Given the description of an element on the screen output the (x, y) to click on. 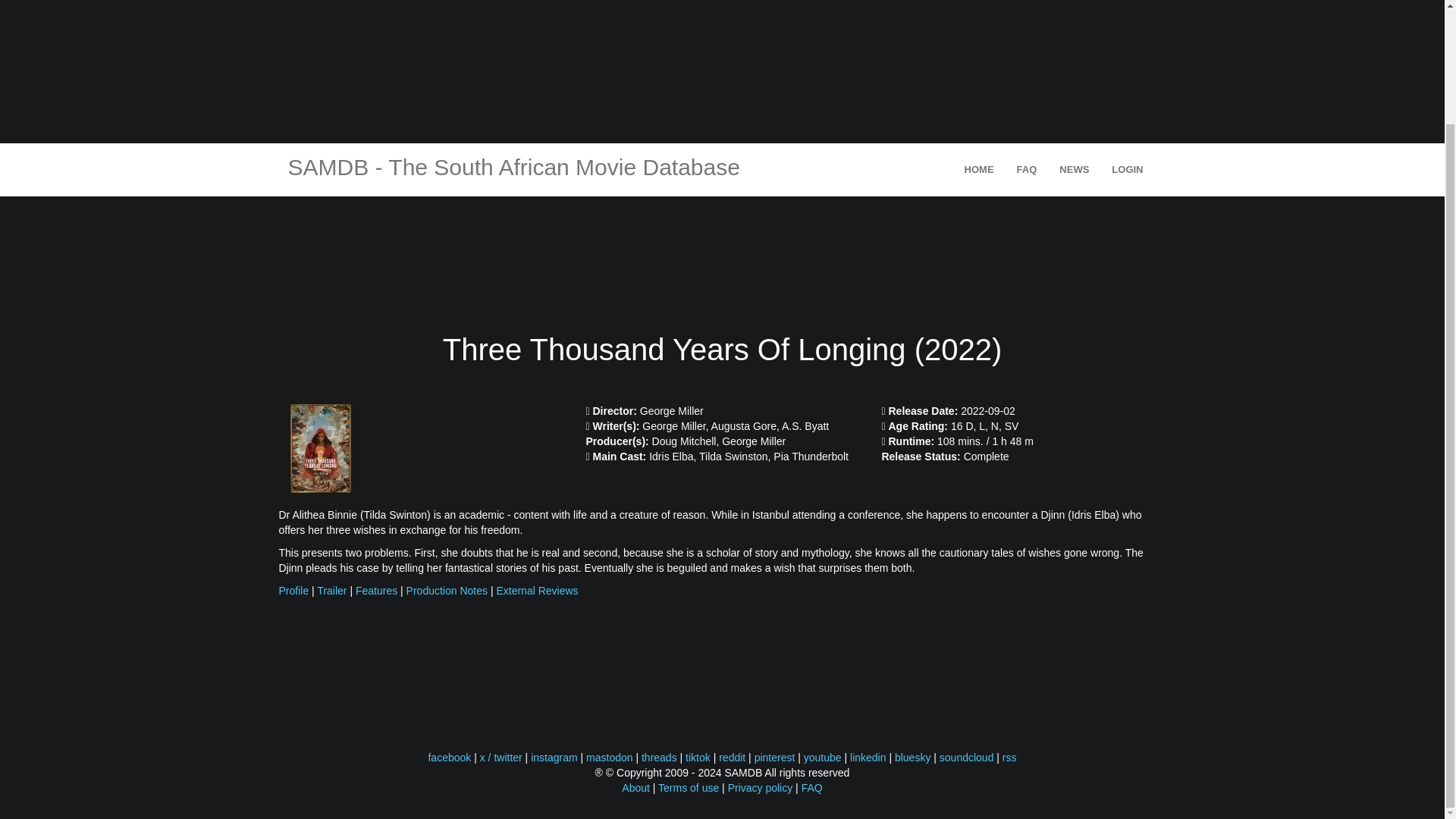
tiktok (697, 757)
bluesky (912, 757)
Advertisement (721, 67)
facebook (449, 757)
LOGIN (1127, 169)
Trailer (331, 590)
soundcloud (966, 757)
pinterest (774, 757)
External Reviews (537, 590)
NEWS (1074, 169)
instagram (553, 757)
Terms of use (688, 787)
About (635, 787)
mastodon (608, 757)
threads (659, 757)
